Given the description of an element on the screen output the (x, y) to click on. 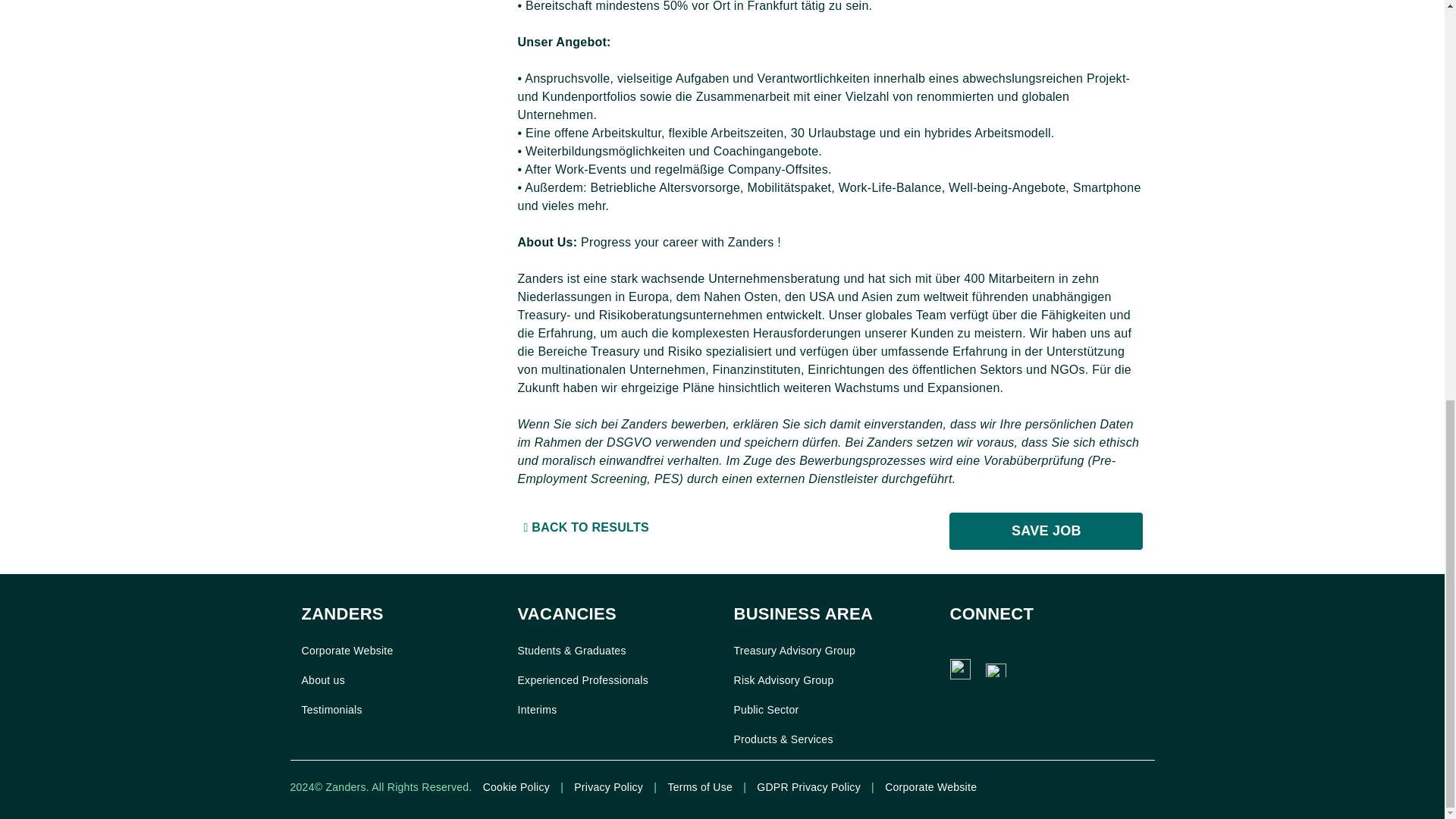
Testimonials (331, 709)
Corporate Website (347, 650)
Privacy Policy (608, 787)
About us (323, 680)
Public Sector (766, 709)
Risk Advisory Group (783, 680)
Corporate Website (347, 650)
Cookie Policy (516, 787)
BACK TO RESULTS (613, 527)
About us (323, 680)
